Given the description of an element on the screen output the (x, y) to click on. 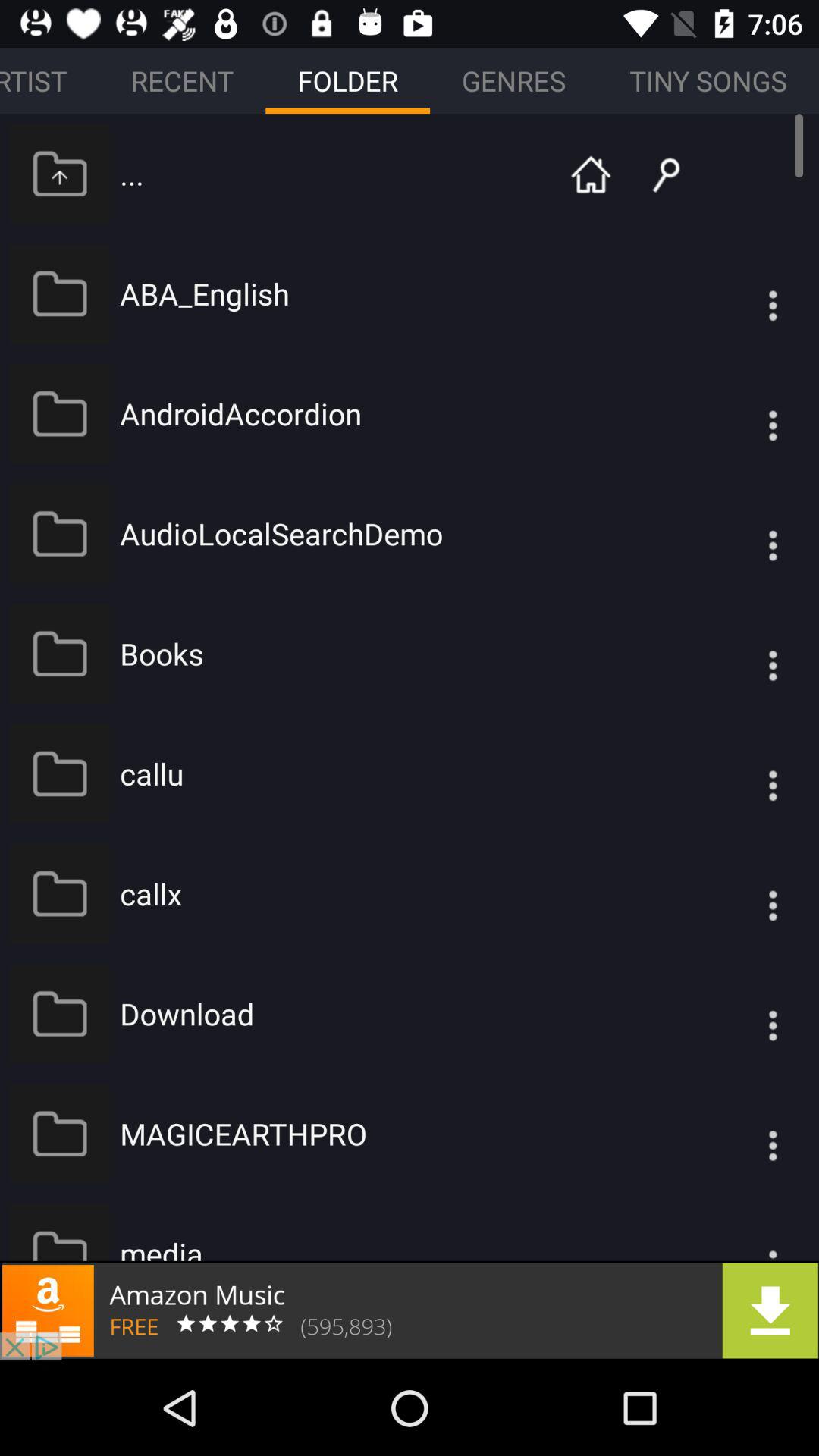
see more options (742, 1013)
